Given the description of an element on the screen output the (x, y) to click on. 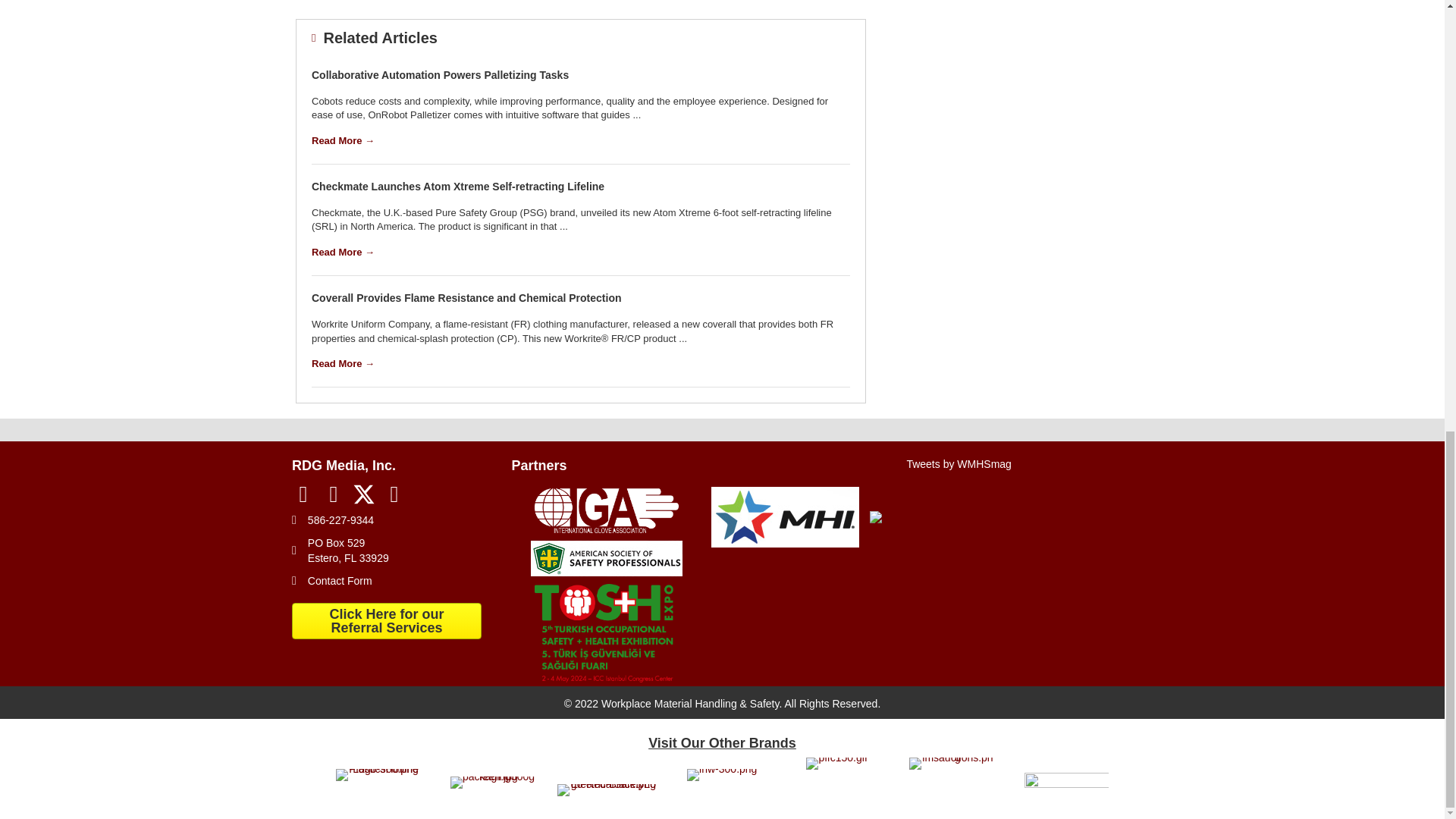
Read More (342, 251)
Read More (342, 140)
Read More (342, 363)
Coverall Provides Flame Resistance and Chemical Protection (466, 297)
Checkmate Launches Atom Xtreme Self-retracting Lifeline (457, 186)
Collaborative Automation Powers Palletizing Tasks (440, 74)
